Given the description of an element on the screen output the (x, y) to click on. 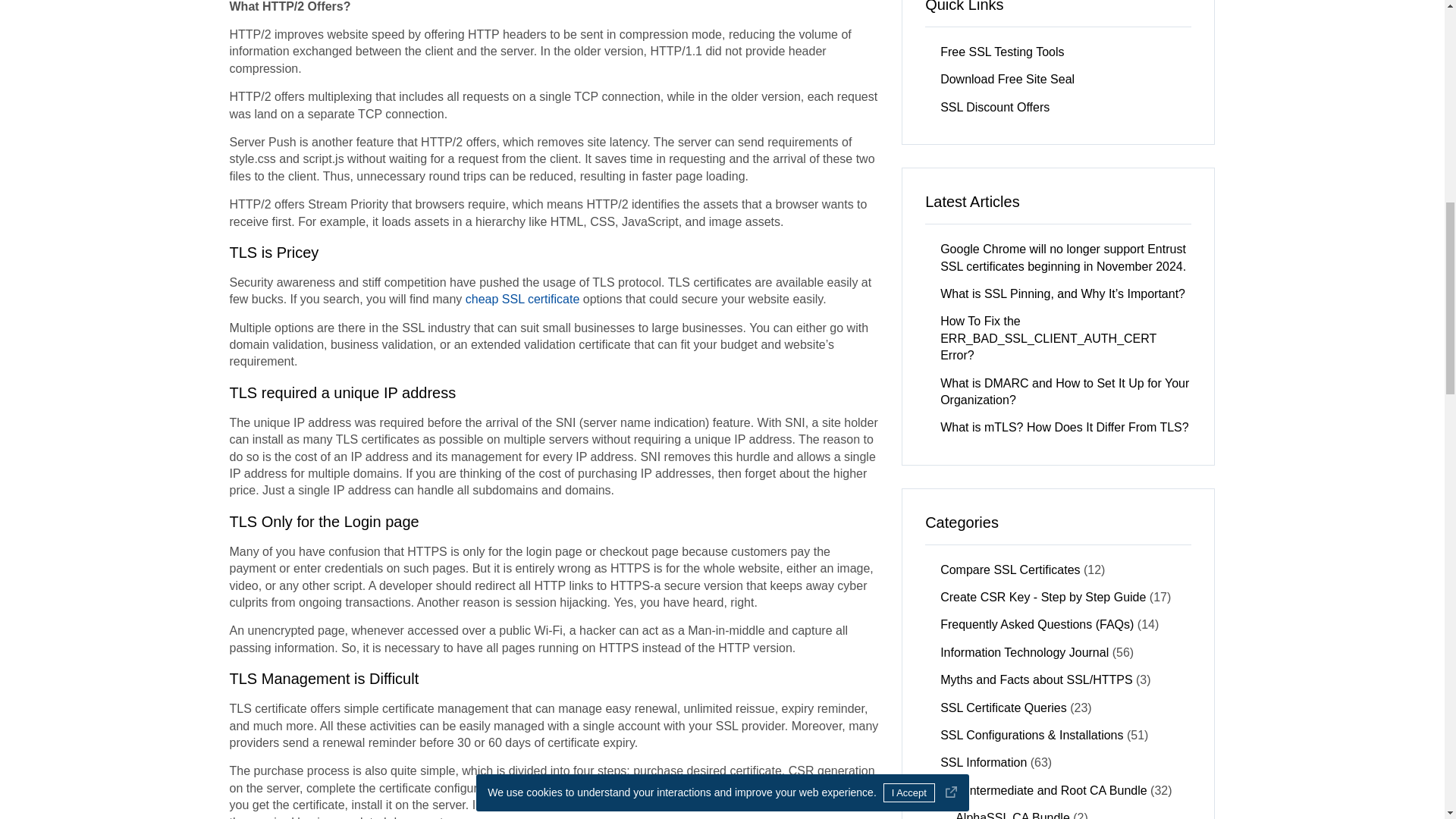
cheap SSL certificate (522, 298)
